Given the description of an element on the screen output the (x, y) to click on. 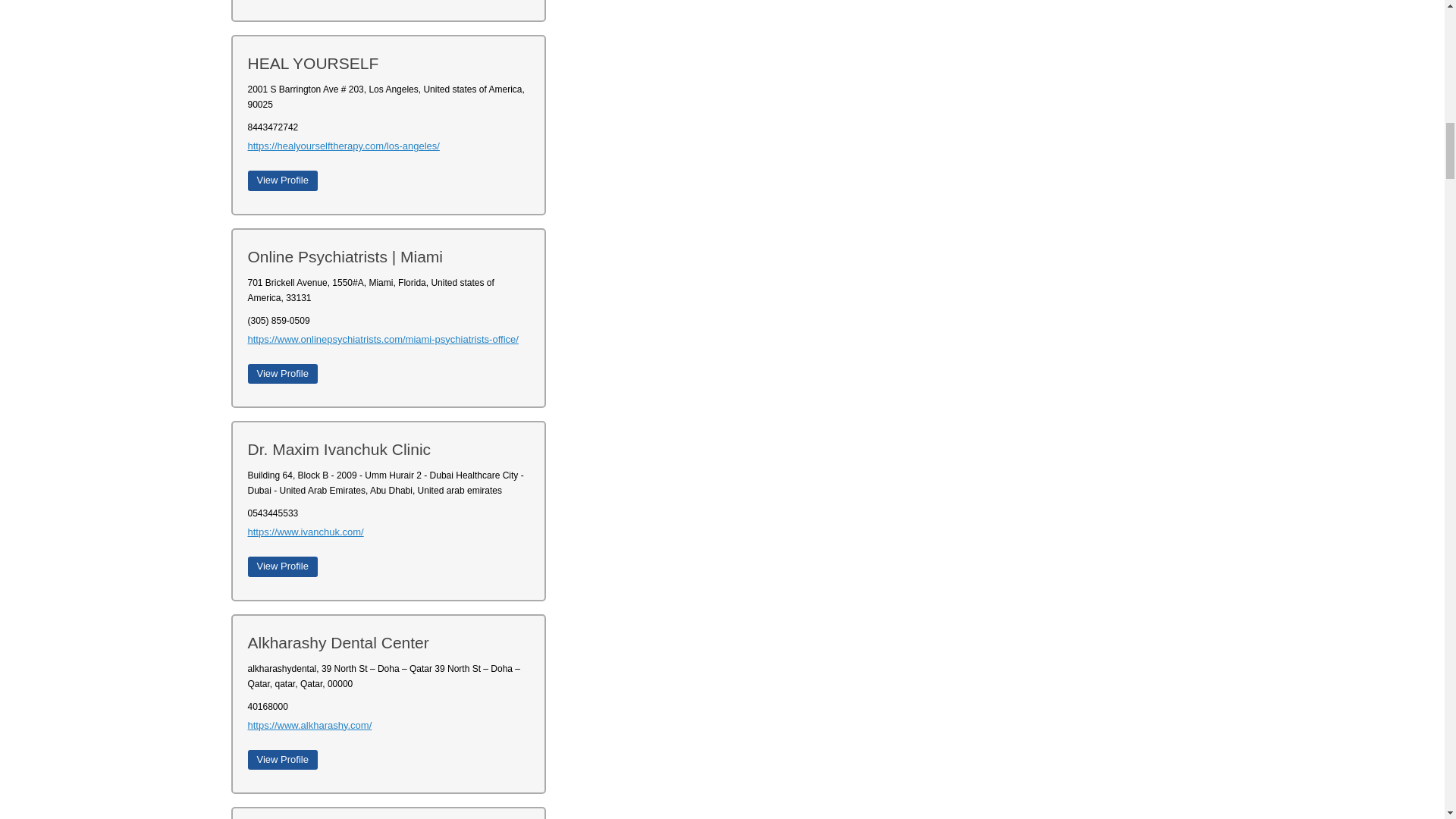
Click here to view profile (282, 566)
Click here to view profile (282, 373)
Click here to view profile (282, 759)
Click here to view profile (282, 180)
